Given the description of an element on the screen output the (x, y) to click on. 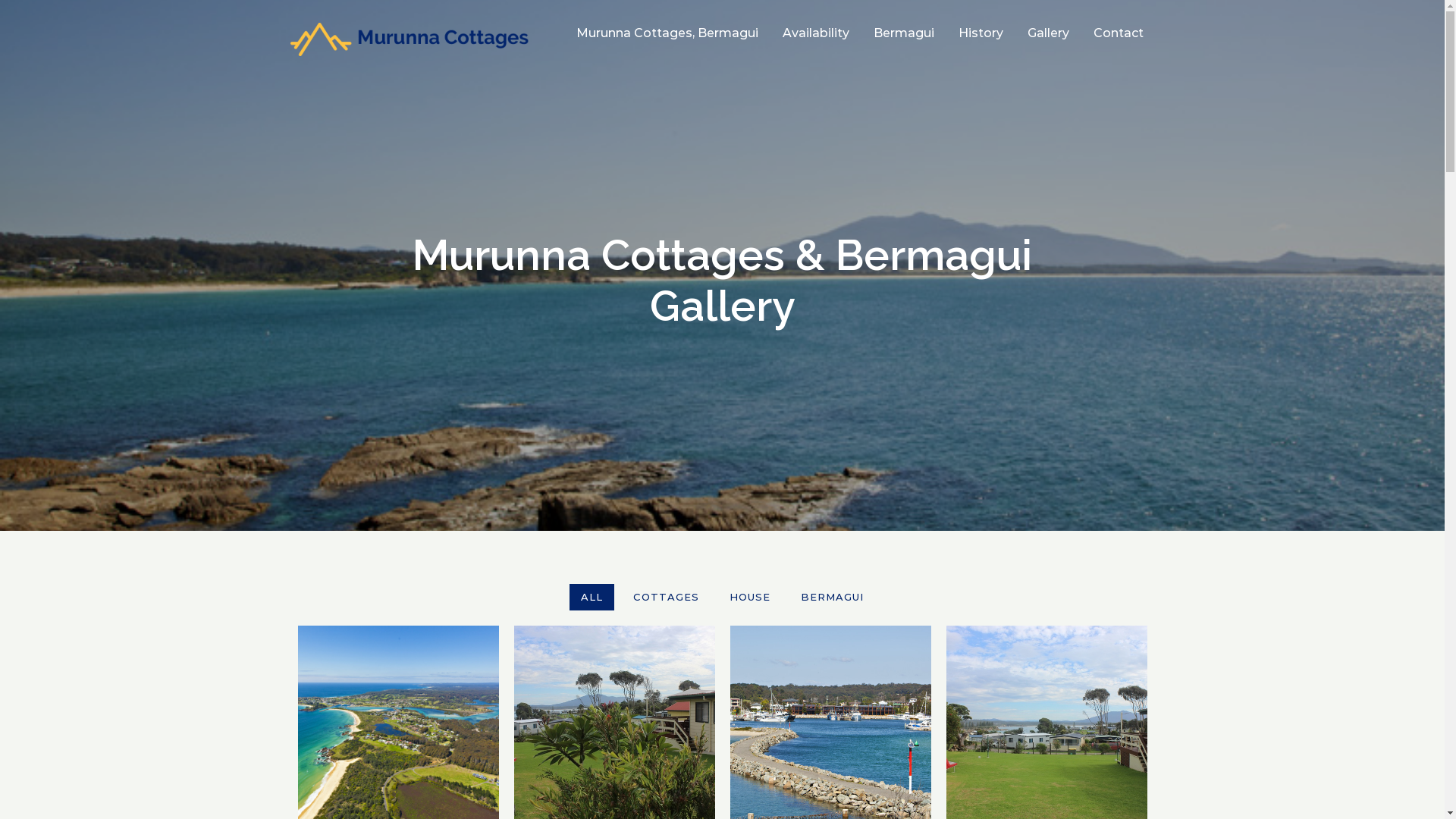
History Element type: text (980, 33)
Gallery Element type: text (1047, 33)
Murunna Cottages, Bermagui Element type: text (667, 33)
Availability Element type: text (815, 33)
Contact Element type: text (1118, 33)
Bermagui Element type: text (903, 33)
